Given the description of an element on the screen output the (x, y) to click on. 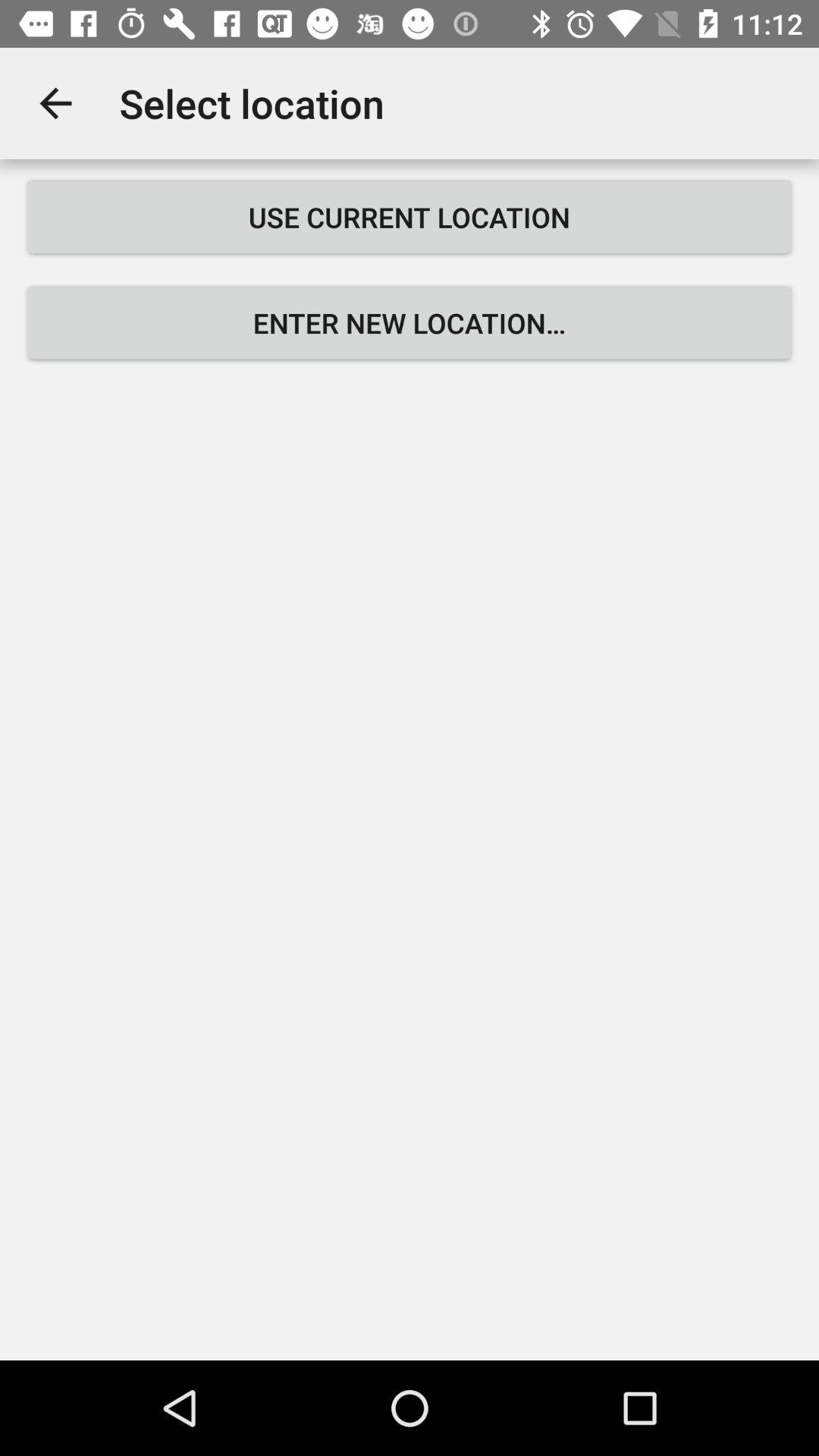
flip to the use current location (409, 217)
